Given the description of an element on the screen output the (x, y) to click on. 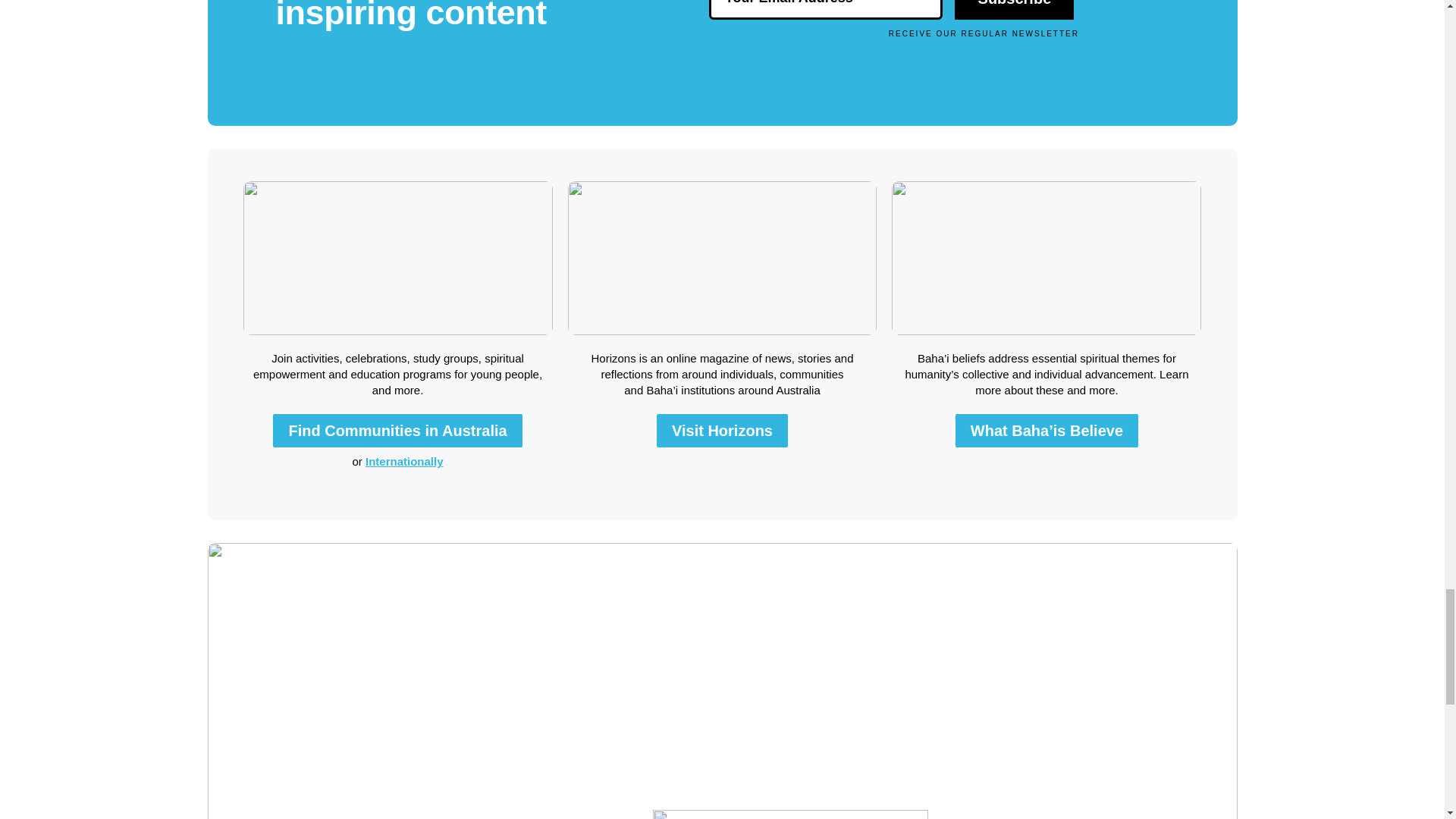
Subscribe (1014, 9)
